Given the description of an element on the screen output the (x, y) to click on. 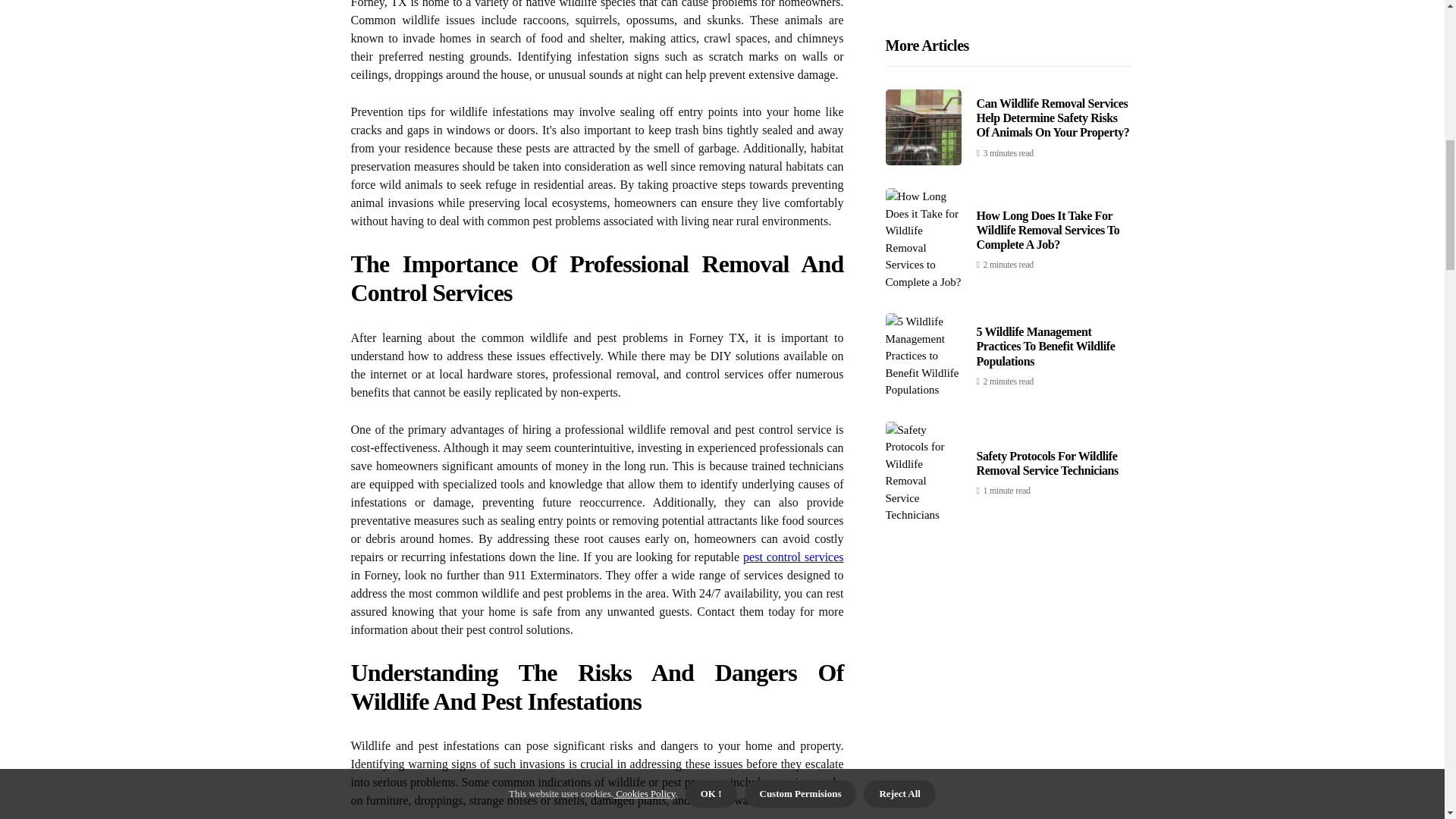
pest control services (792, 556)
Safety Protocols For Wildlife Removal Service Technicians (1047, 138)
